Given the description of an element on the screen output the (x, y) to click on. 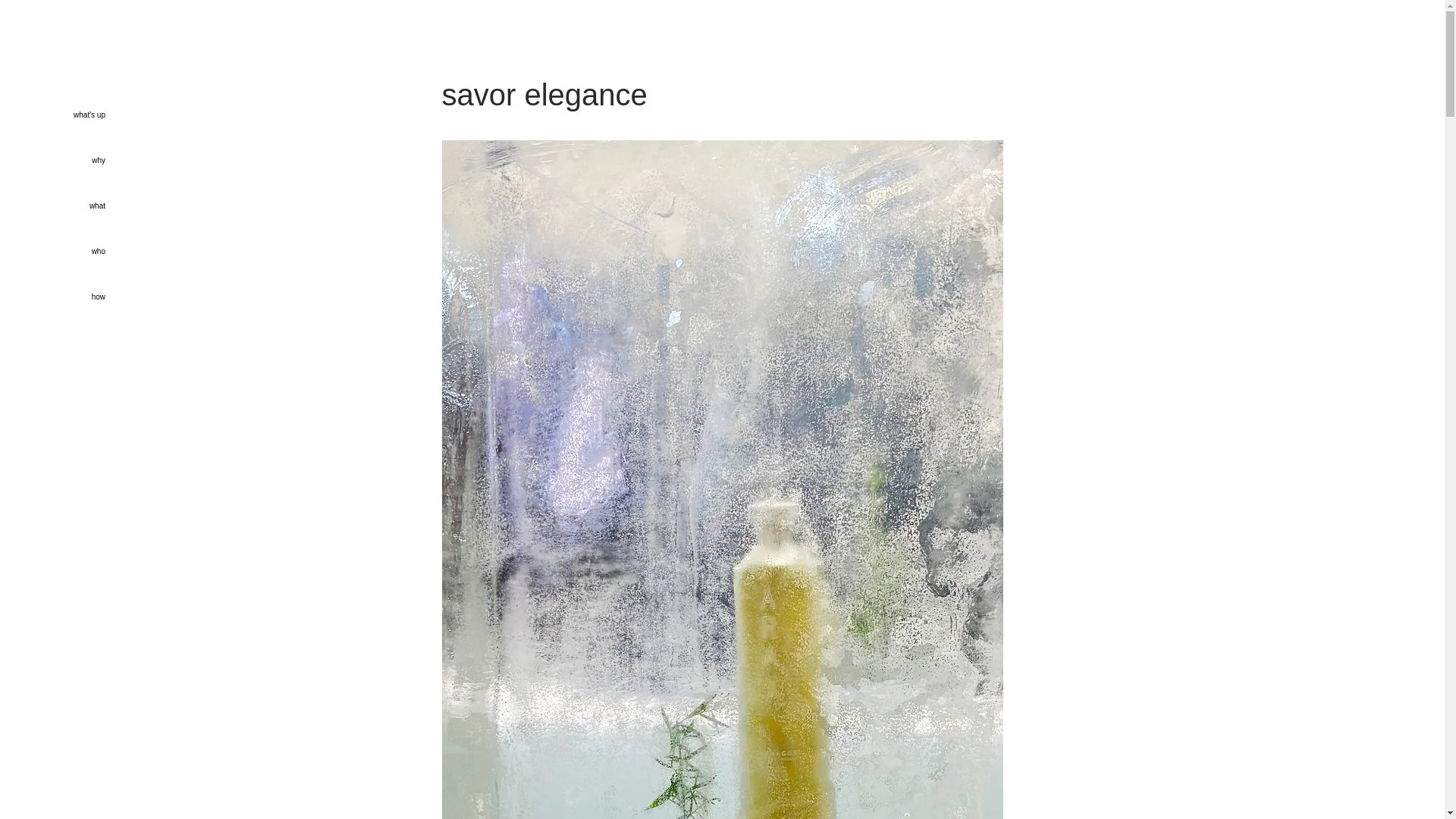
what (52, 206)
why (52, 160)
how (52, 297)
who (52, 251)
what's up (52, 115)
